Given the description of an element on the screen output the (x, y) to click on. 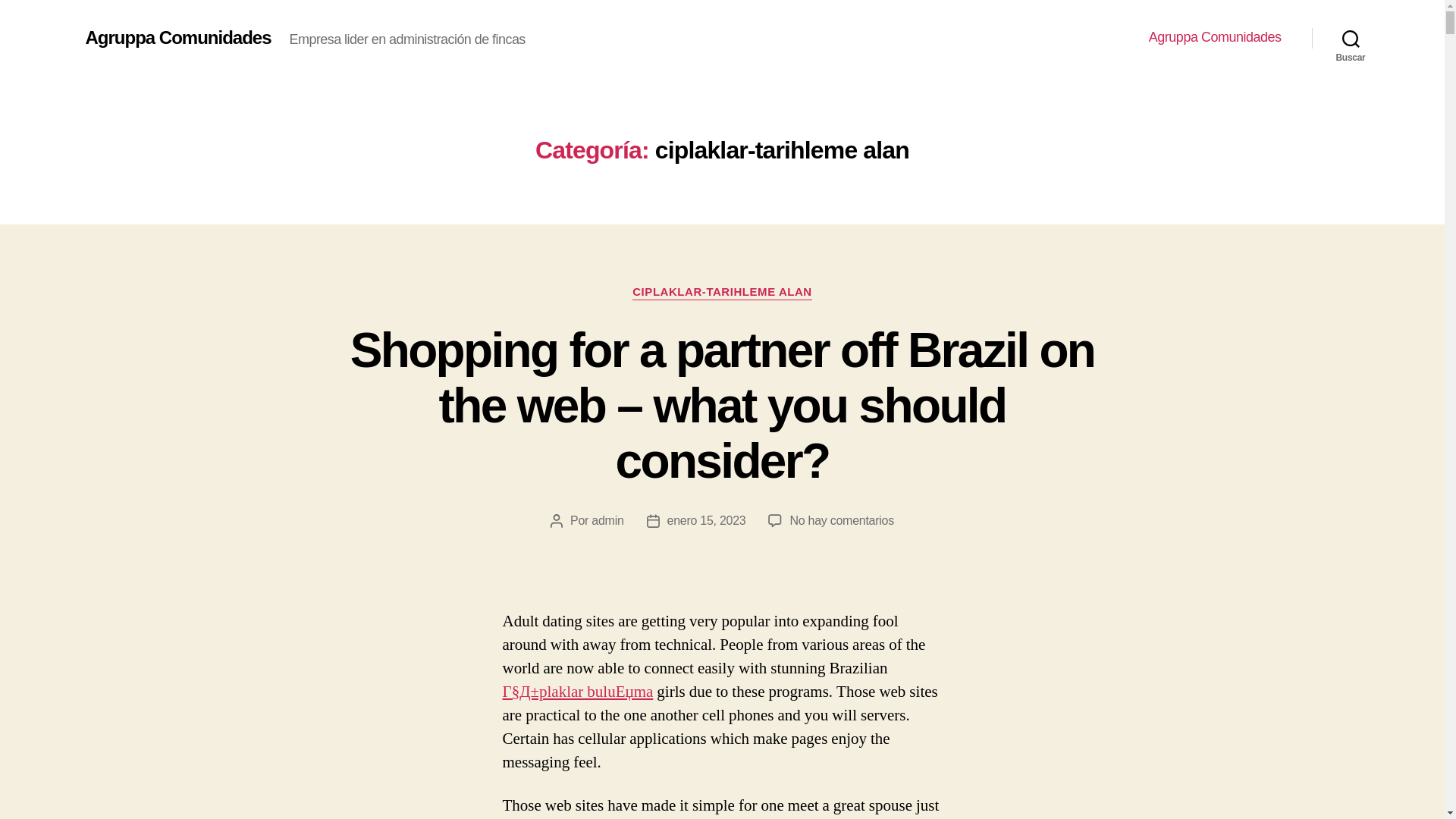
admin (607, 520)
Agruppa Comunidades (177, 37)
CIPLAKLAR-TARIHLEME ALAN (721, 292)
Agruppa Comunidades (1214, 37)
enero 15, 2023 (705, 520)
Buscar (1350, 37)
